Given the description of an element on the screen output the (x, y) to click on. 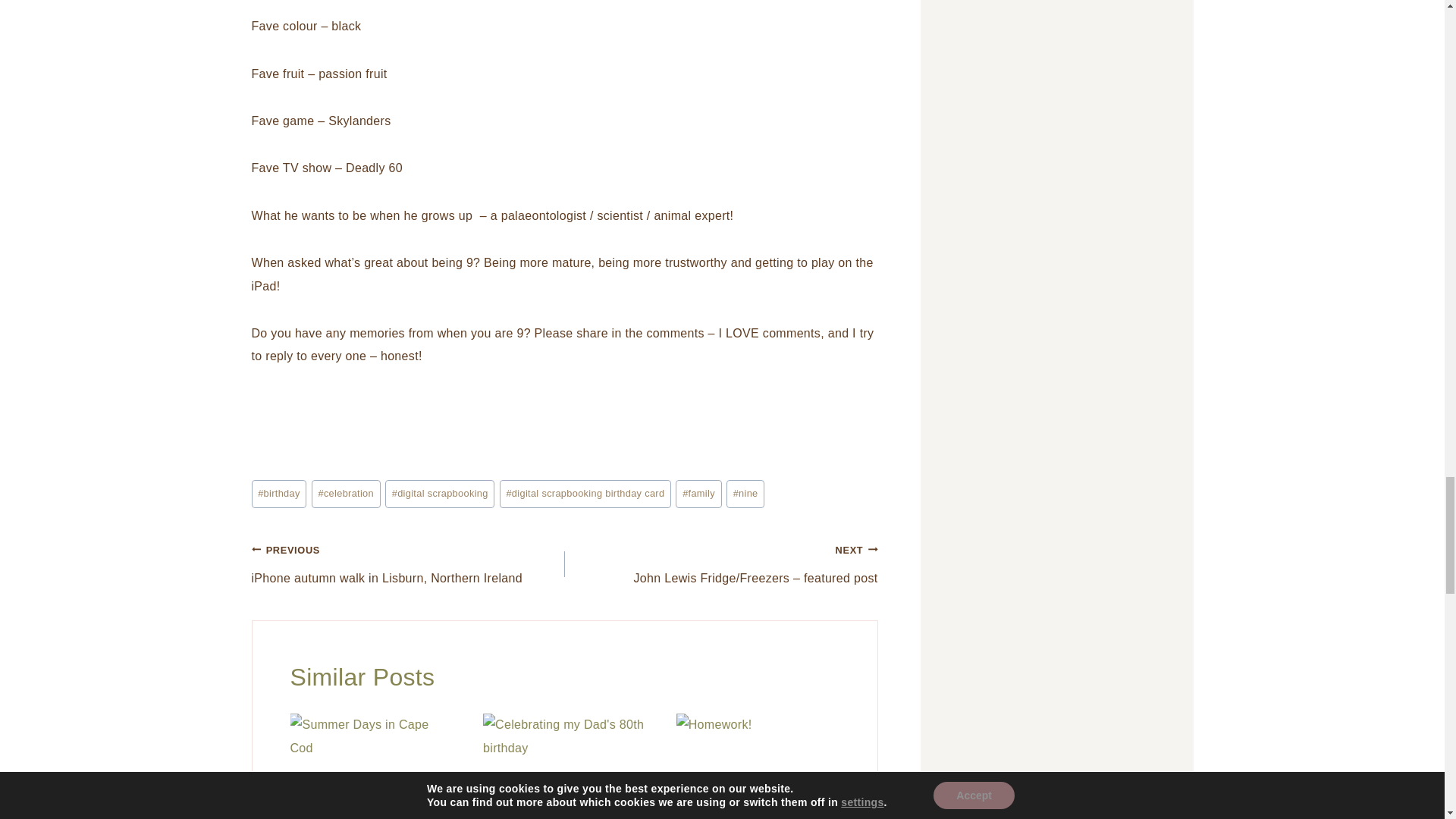
birthday (279, 493)
celebration (345, 493)
digital scrapbooking (440, 493)
family (407, 564)
digital scrapbooking birthday card (697, 493)
nine (585, 493)
